Given the description of an element on the screen output the (x, y) to click on. 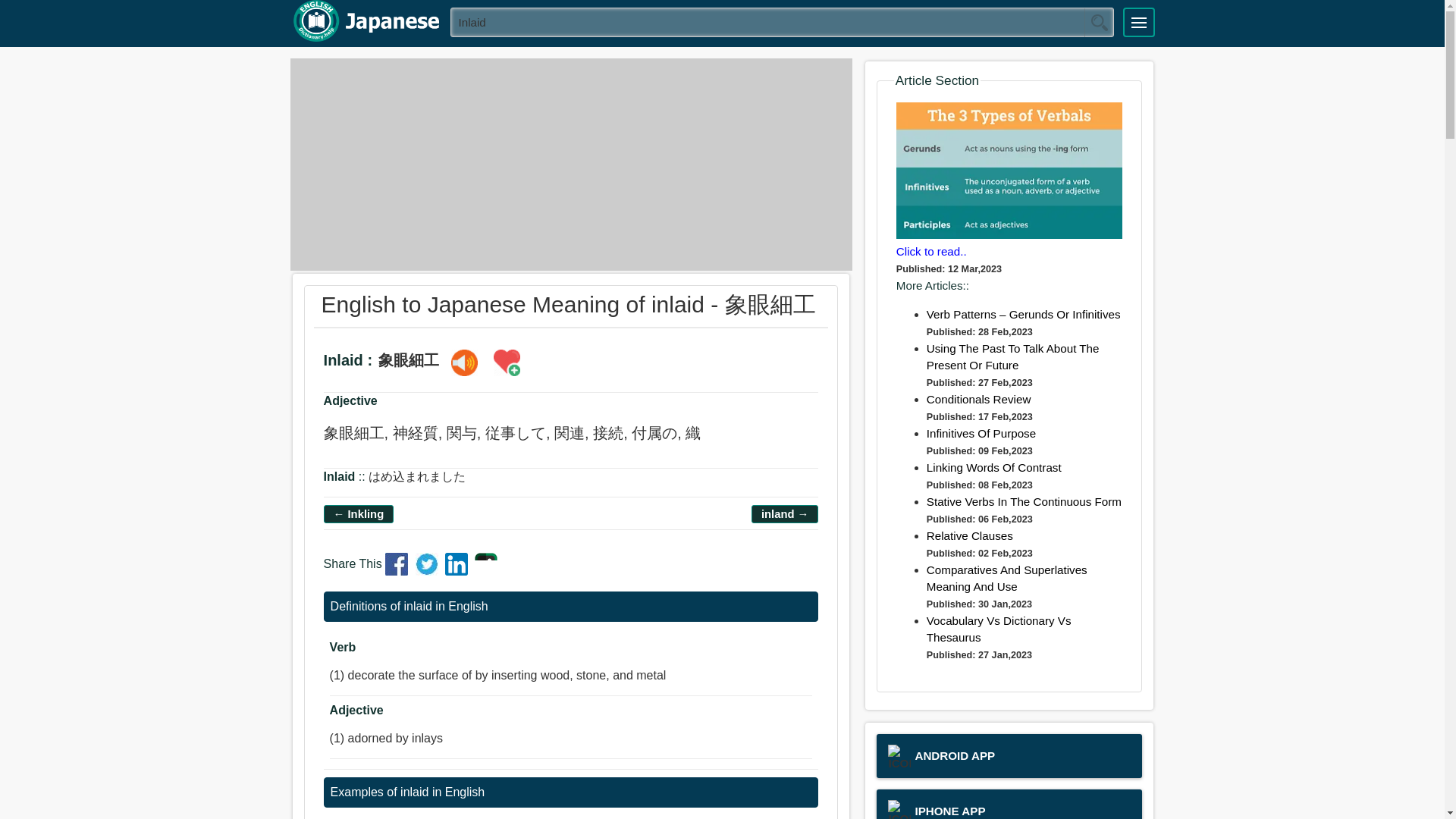
Search (1098, 22)
Add To Favorites (506, 361)
English to Japanese meaning of inkling (358, 514)
More Share (485, 570)
English to Japanese meaning of inland (784, 514)
Say The Word (464, 361)
JAPANESE (365, 20)
Advertisement (570, 164)
Facebook (398, 570)
Linkedin (458, 570)
Twitter (428, 570)
inlaid (782, 21)
